Given the description of an element on the screen output the (x, y) to click on. 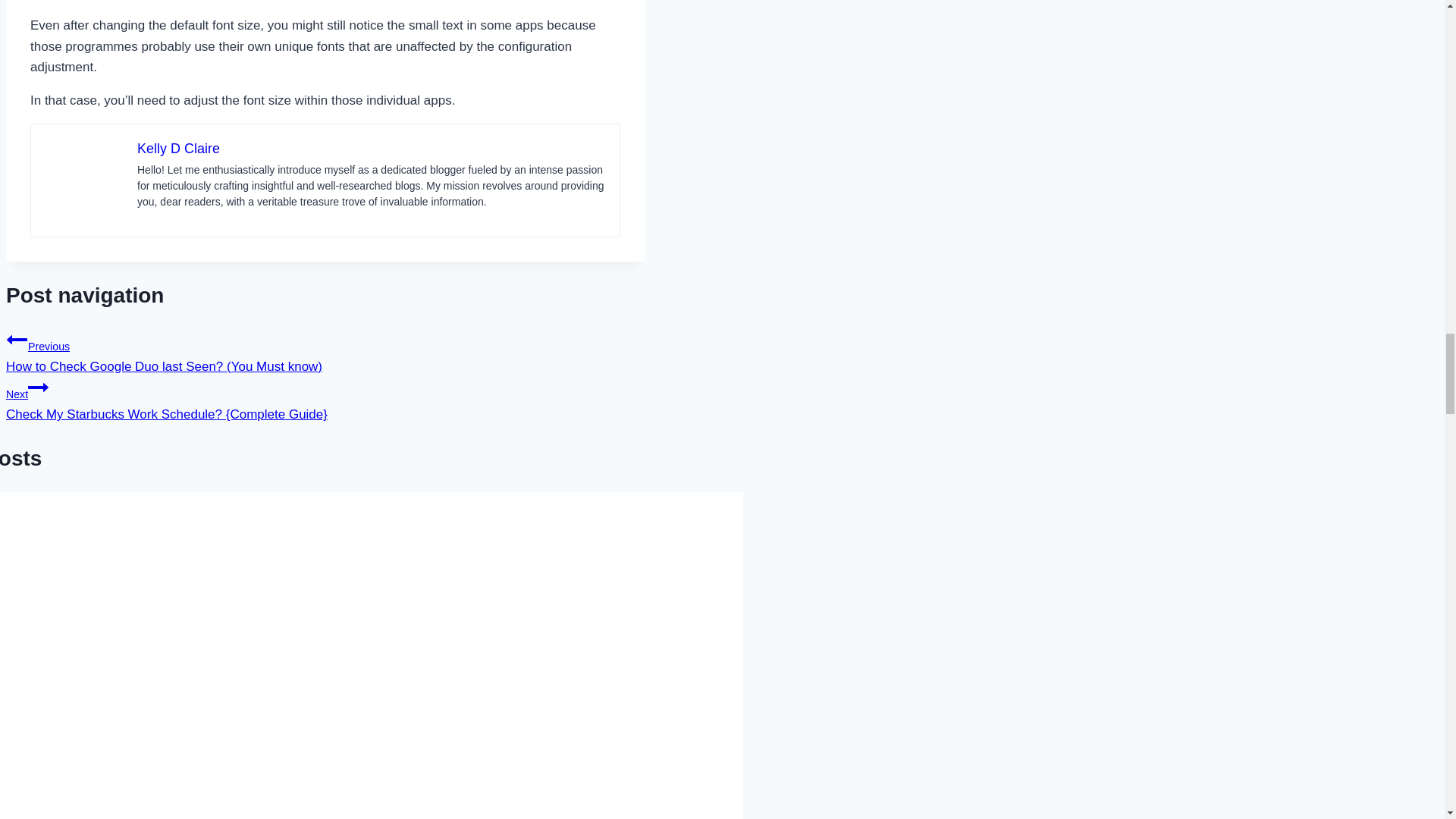
Previous (16, 339)
Kelly D Claire (177, 148)
Continue (37, 387)
